Given the description of an element on the screen output the (x, y) to click on. 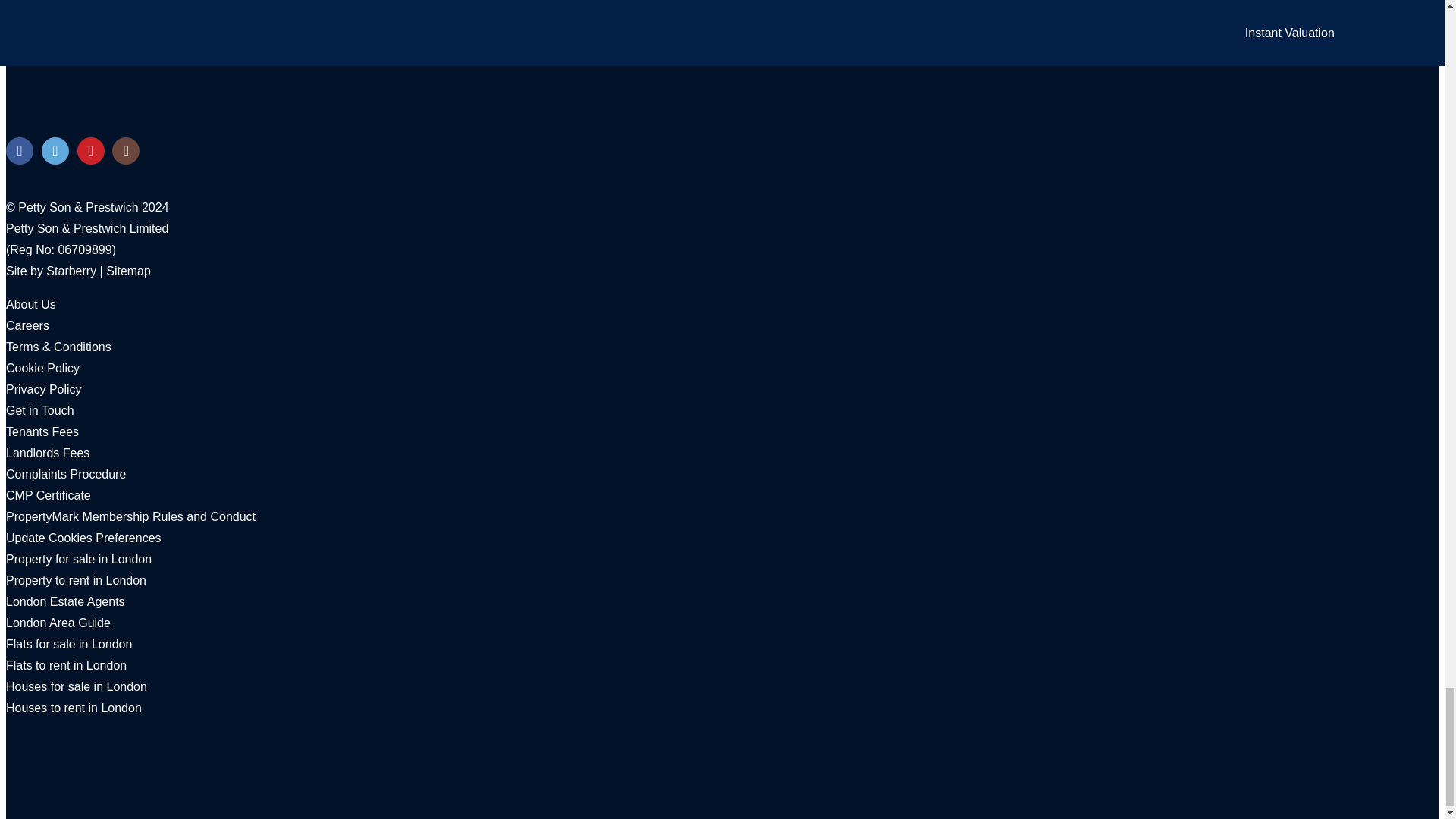
Starberry (71, 270)
